Given the description of an element on the screen output the (x, y) to click on. 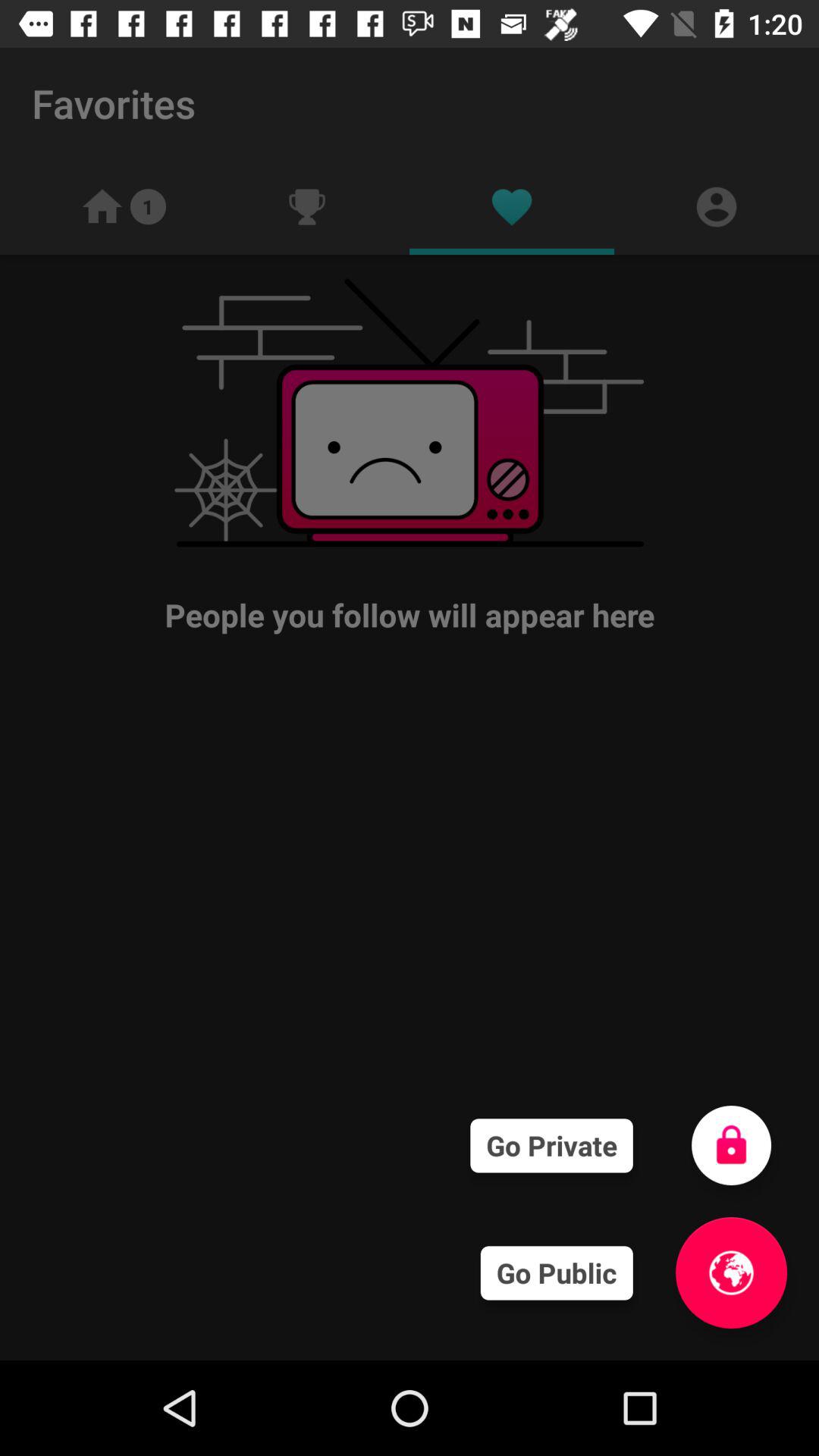
go private button (731, 1145)
